Given the description of an element on the screen output the (x, y) to click on. 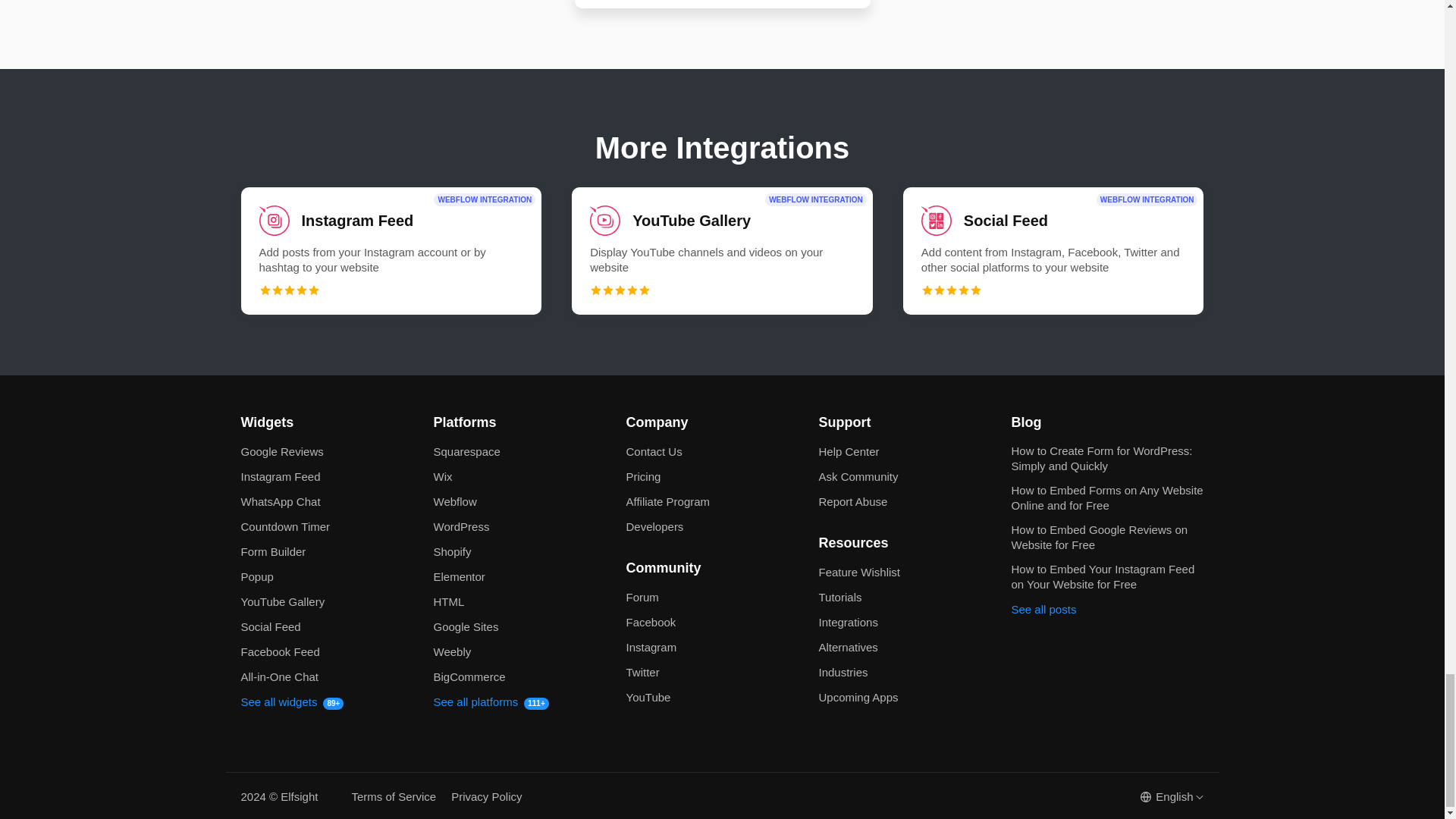
Instagram Feed (391, 250)
Social Feed (1053, 250)
YouTube Gallery (722, 250)
